Given the description of an element on the screen output the (x, y) to click on. 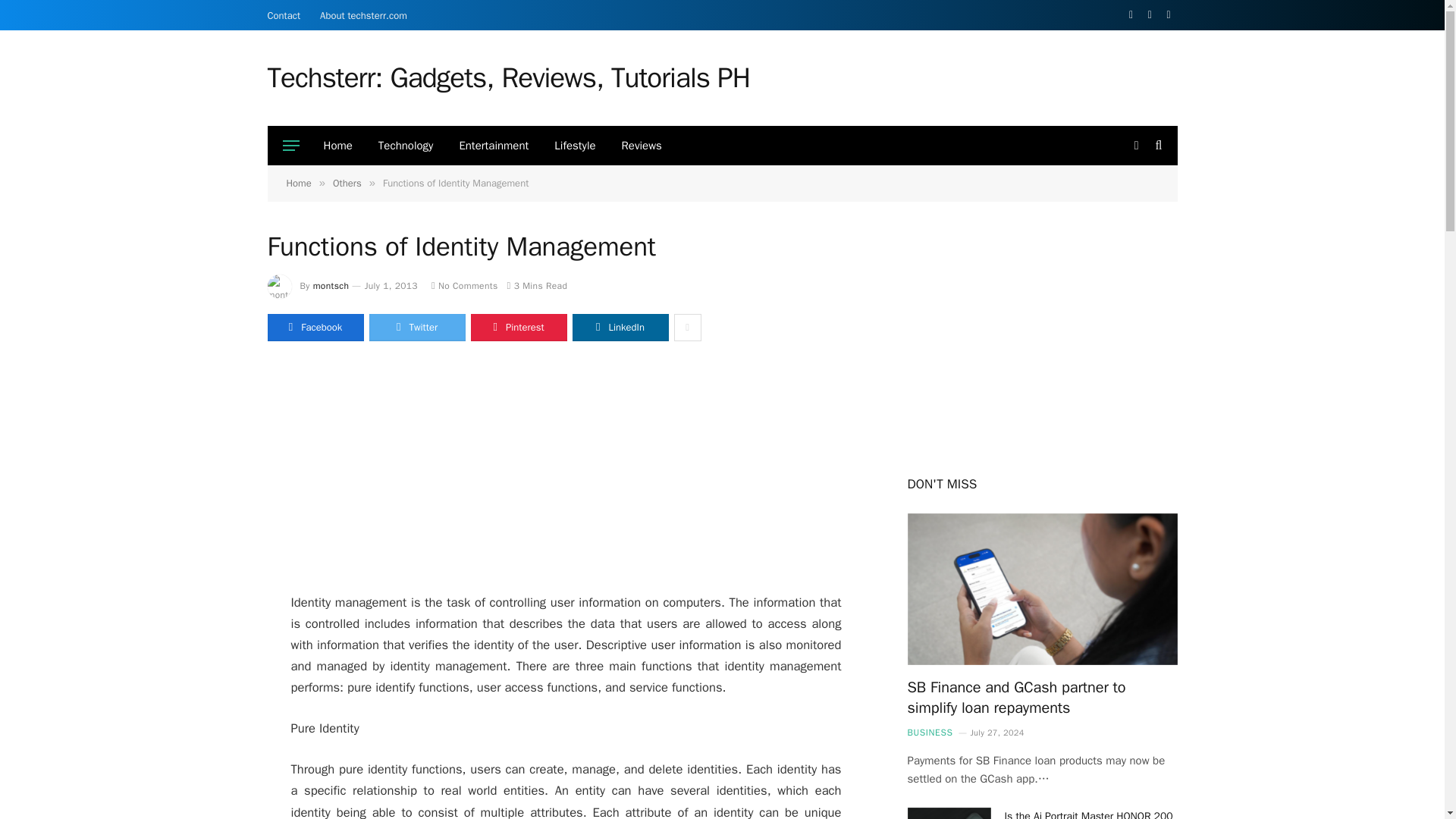
Contact (284, 15)
Others (347, 182)
Lifestyle (574, 145)
Switch to Dark Design - easier on eyes. (1135, 145)
Share on Facebook (314, 327)
Reviews (641, 145)
No Comments (463, 285)
Home (338, 145)
Posts by montsch (331, 285)
montsch (331, 285)
Techsterr: Gadgets, Reviews, Tutorials PH (507, 77)
Facebook (314, 327)
Pinterest (518, 327)
Entertainment (493, 145)
Technology (405, 145)
